Given the description of an element on the screen output the (x, y) to click on. 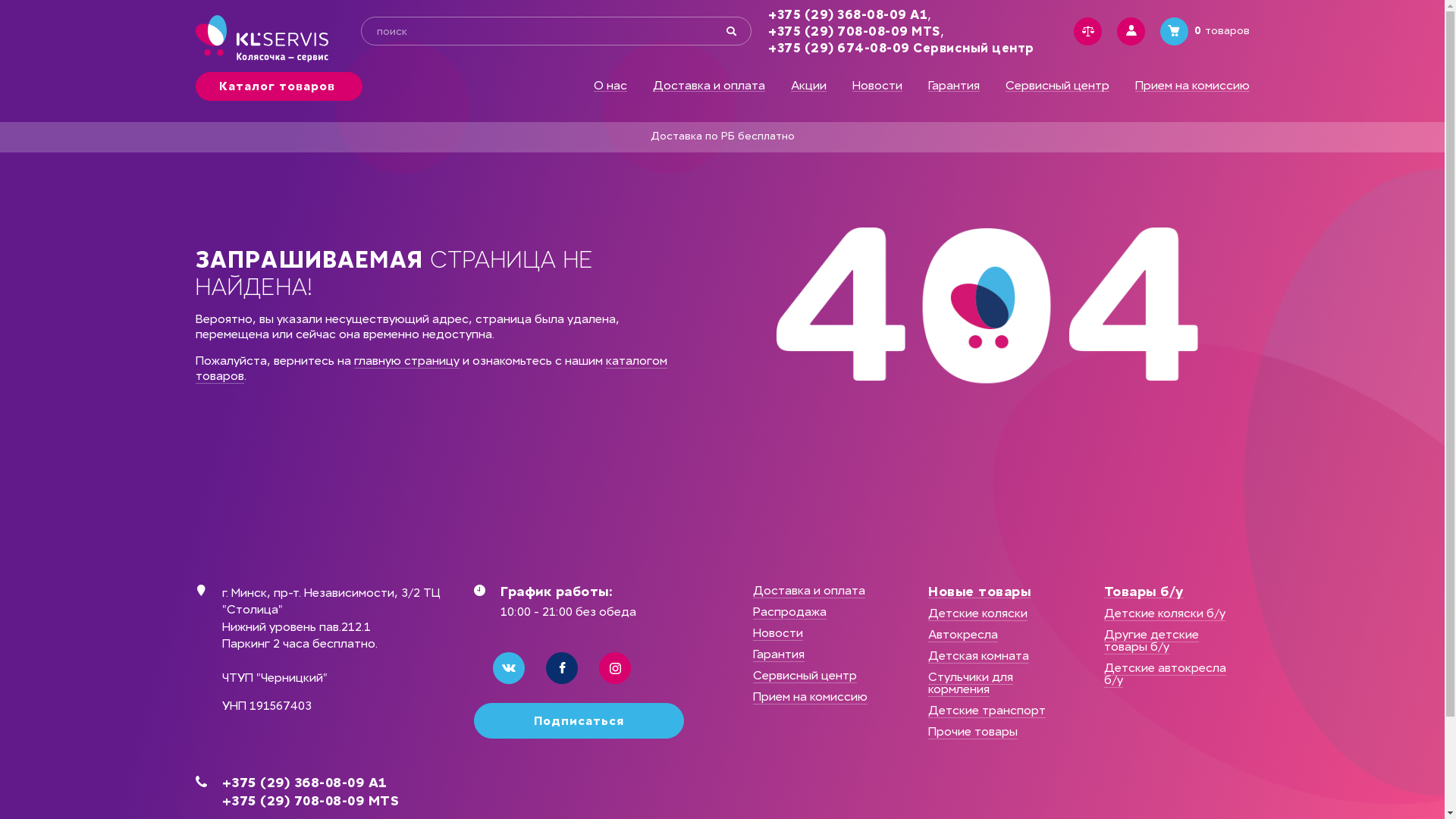
+375 (29) 708-08-09 MTS Element type: text (332, 800)
+375 (29) 708-08-09 MTS Element type: text (854, 31)
